Given the description of an element on the screen output the (x, y) to click on. 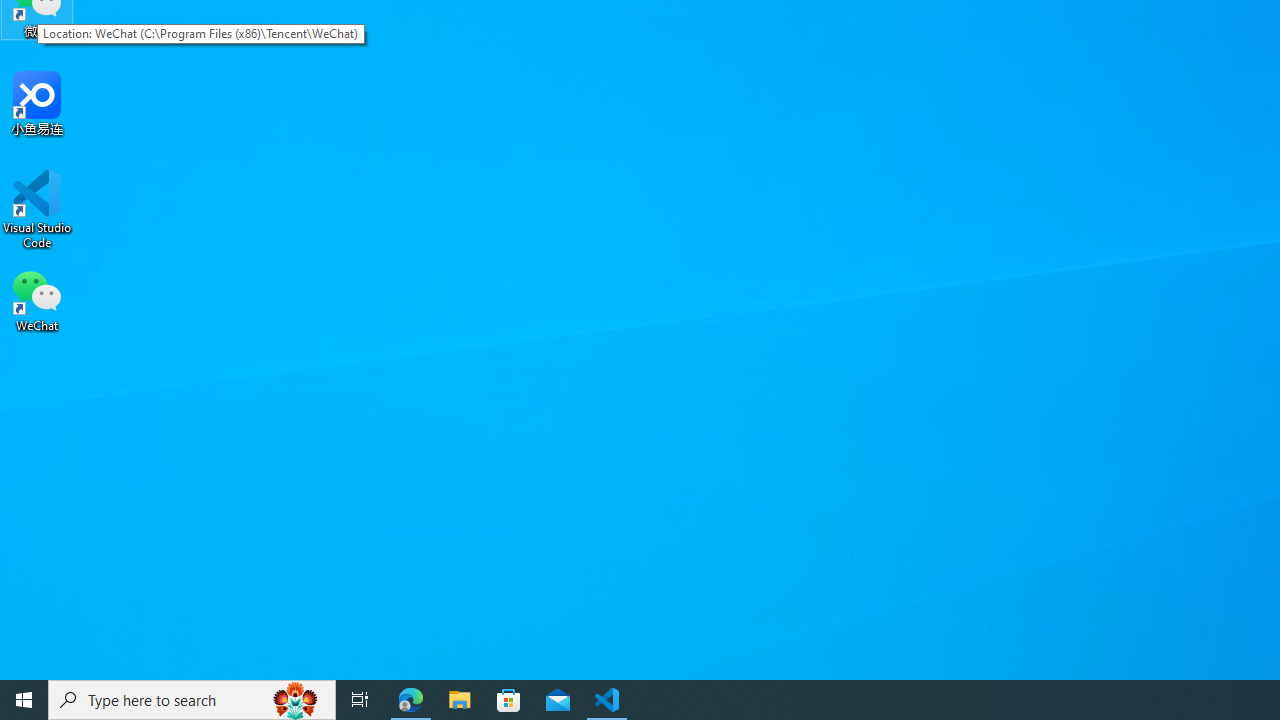
Visual Studio Code (37, 209)
WeChat (37, 299)
